Given the description of an element on the screen output the (x, y) to click on. 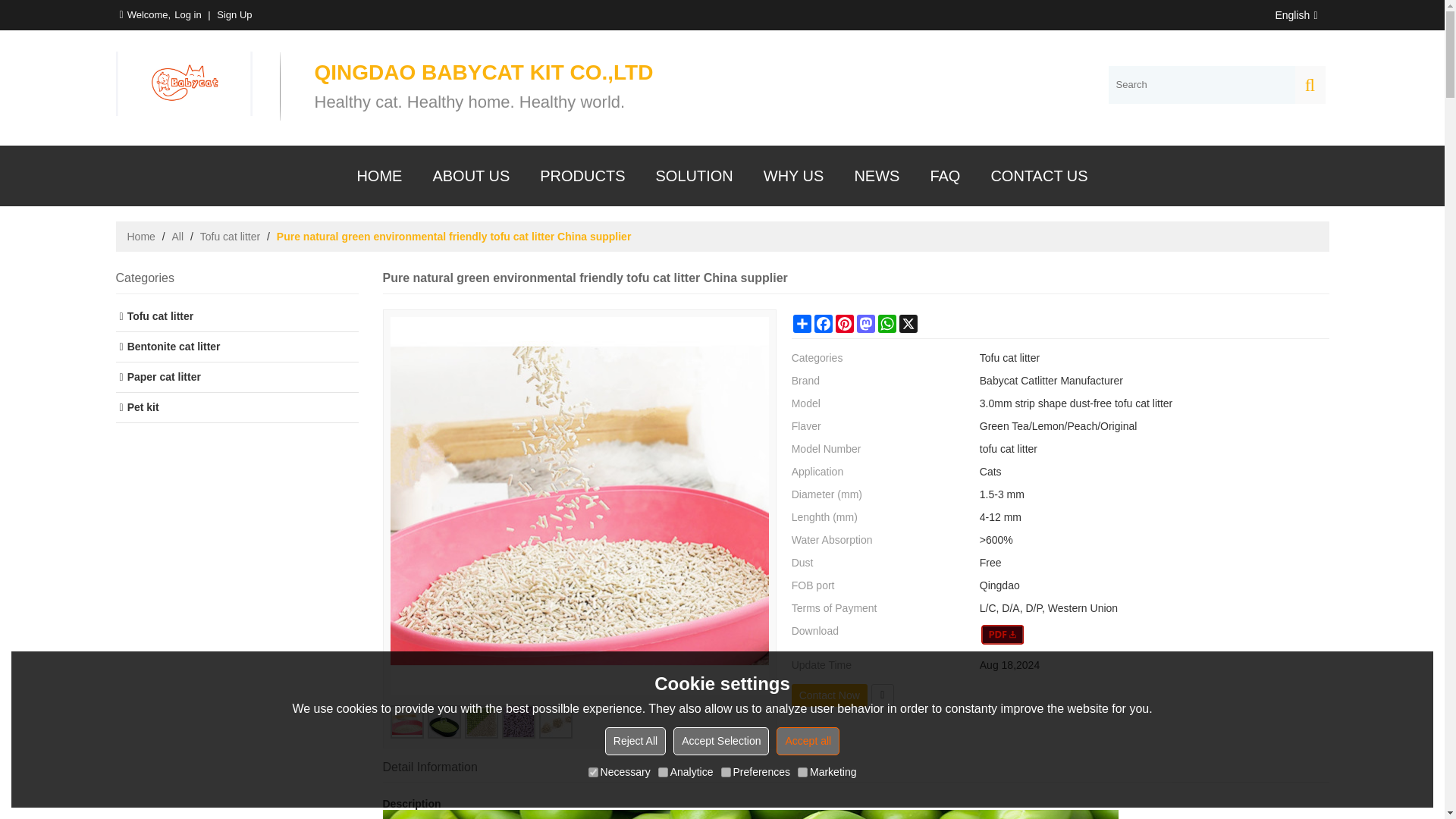
faq (944, 175)
WHY US (794, 175)
products (582, 175)
Home (141, 236)
English (1293, 15)
on (663, 772)
on (725, 772)
Sign Up (233, 15)
Home (141, 236)
home (378, 175)
